Given the description of an element on the screen output the (x, y) to click on. 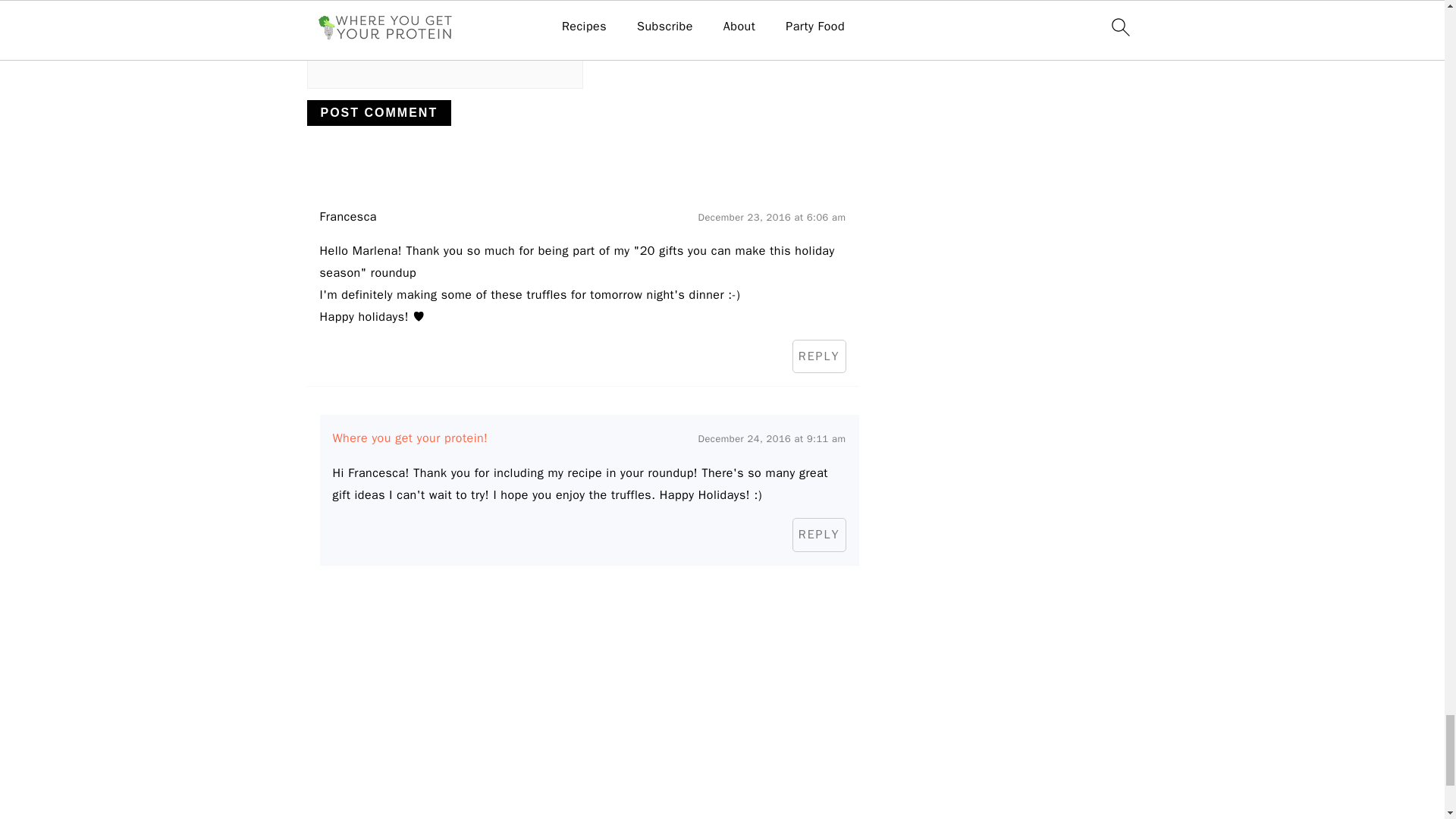
Post Comment (378, 112)
